Given the description of an element on the screen output the (x, y) to click on. 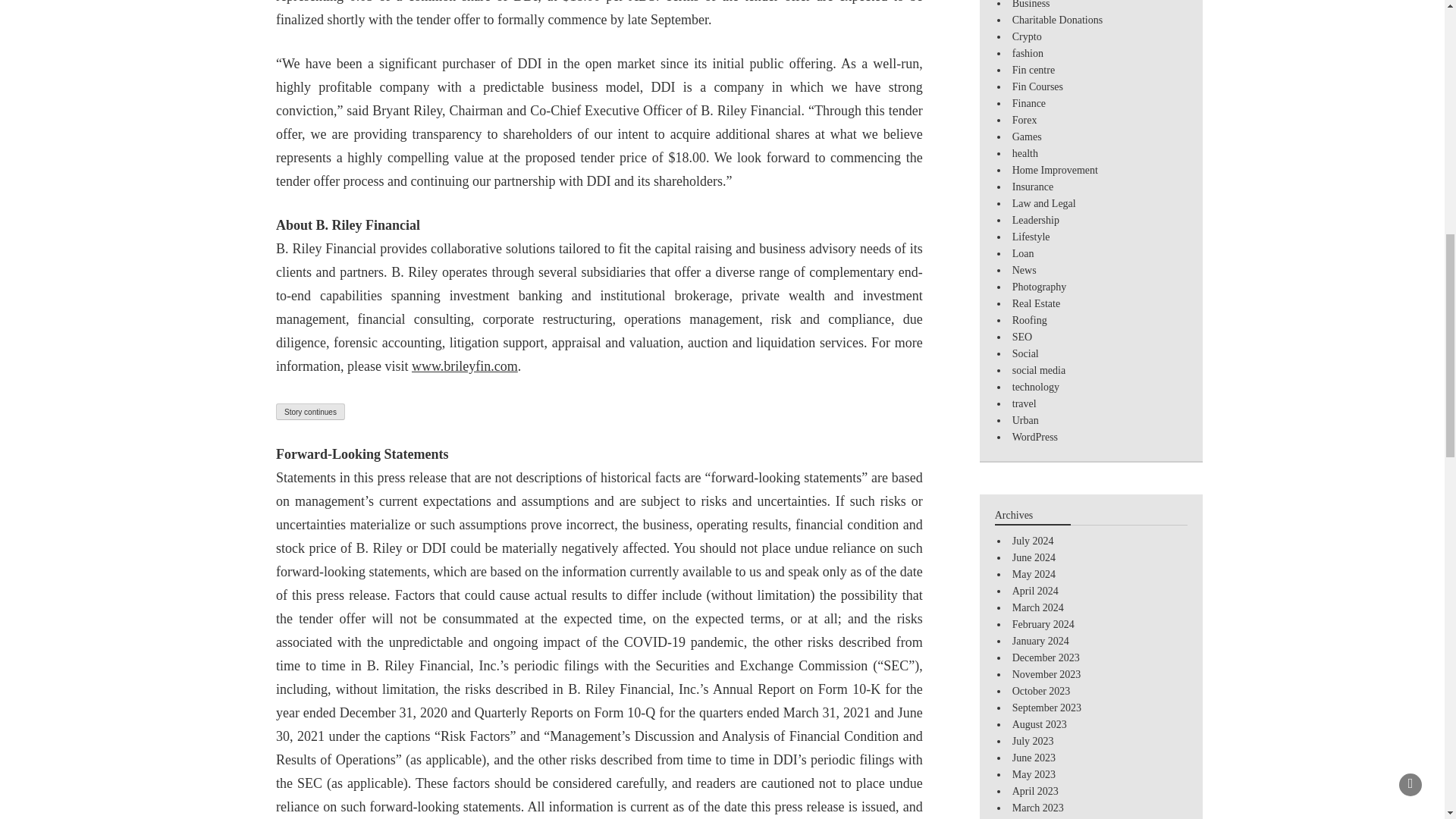
www.brileyfin.com (465, 365)
Story continues (310, 411)
